Given the description of an element on the screen output the (x, y) to click on. 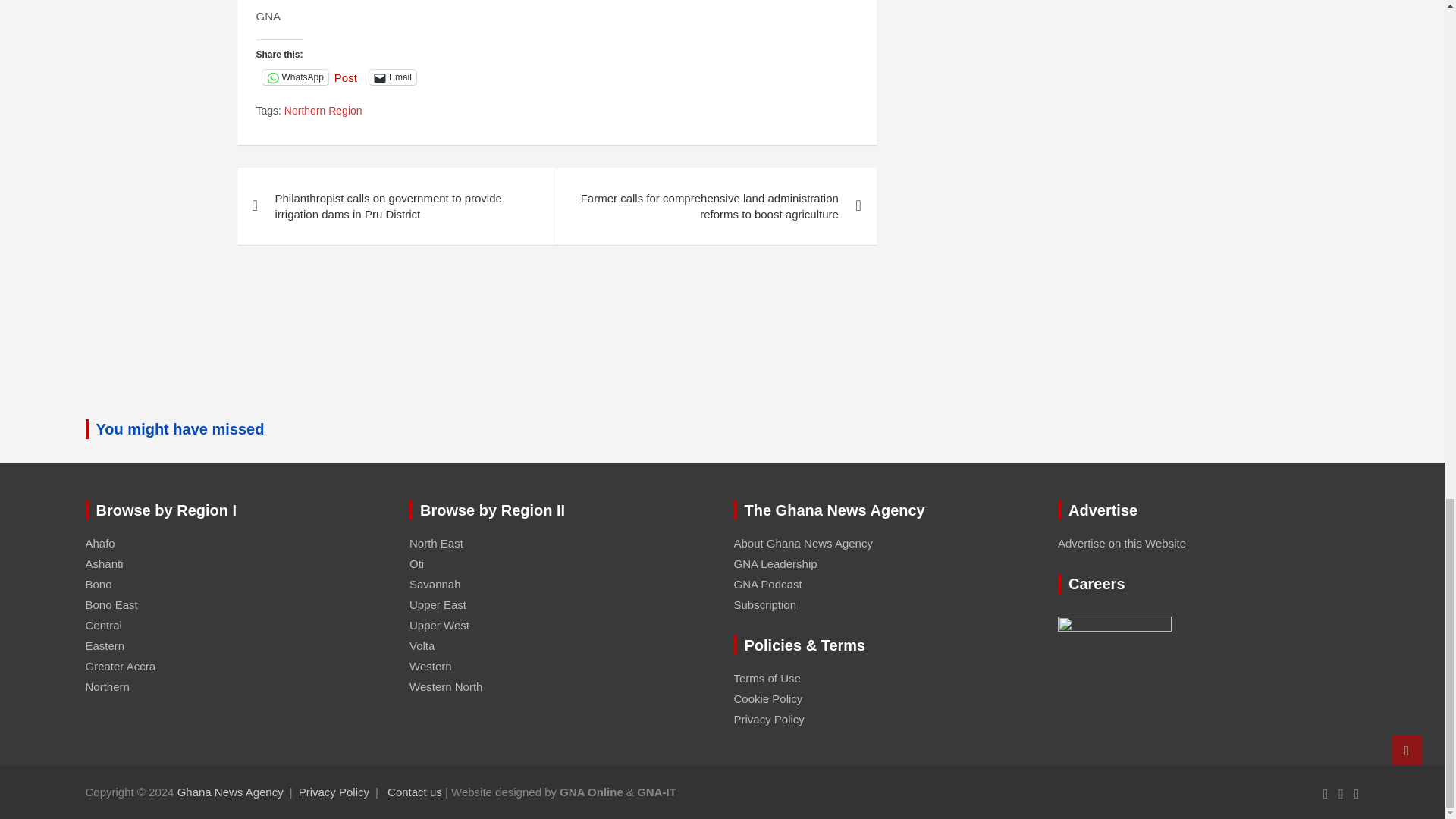
Advertisement (556, 343)
Click to share on WhatsApp (295, 77)
Click to email a link to a friend (392, 77)
Ghana News Agency (230, 791)
